Given the description of an element on the screen output the (x, y) to click on. 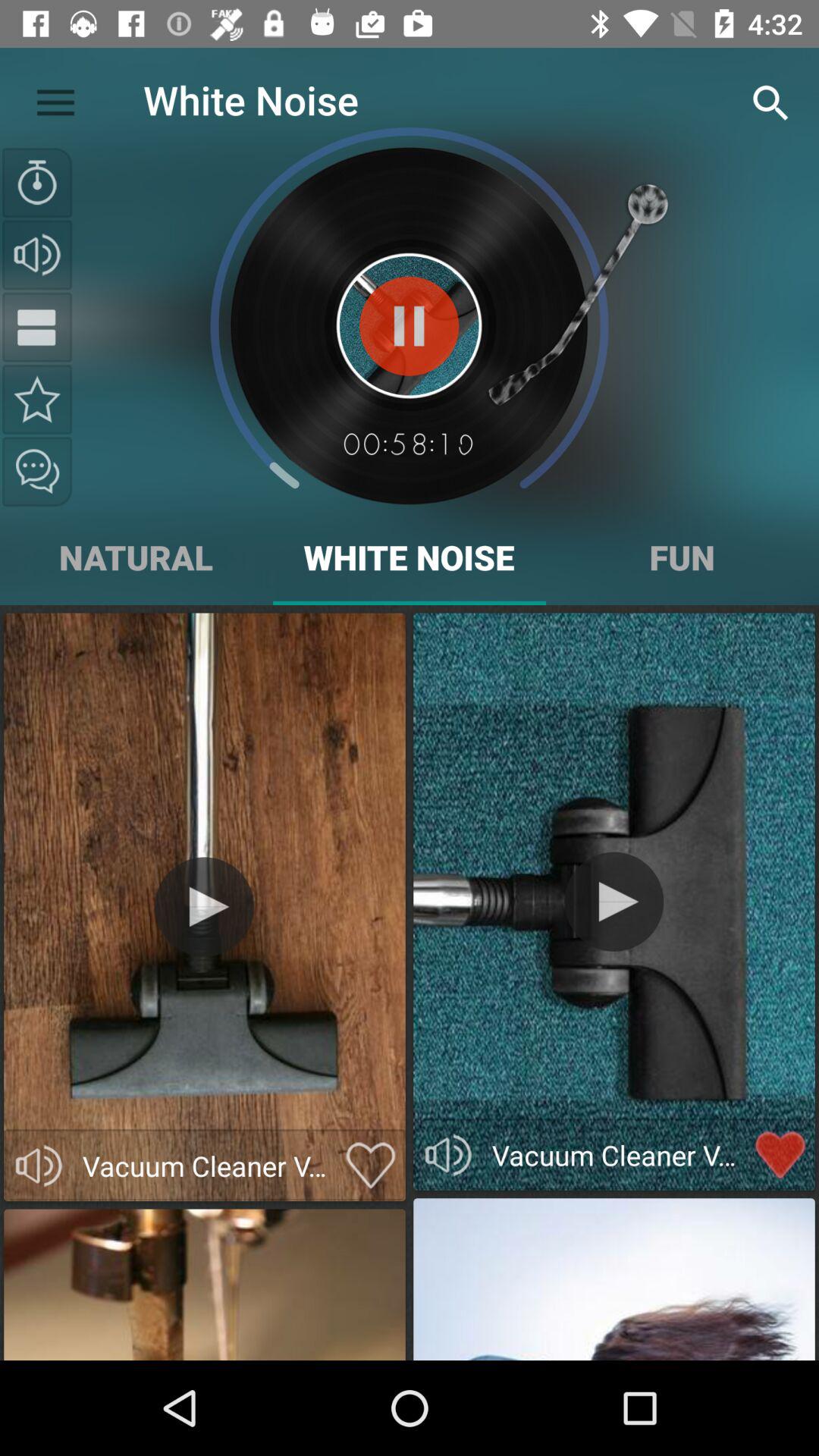
sound on/off button (37, 255)
